Given the description of an element on the screen output the (x, y) to click on. 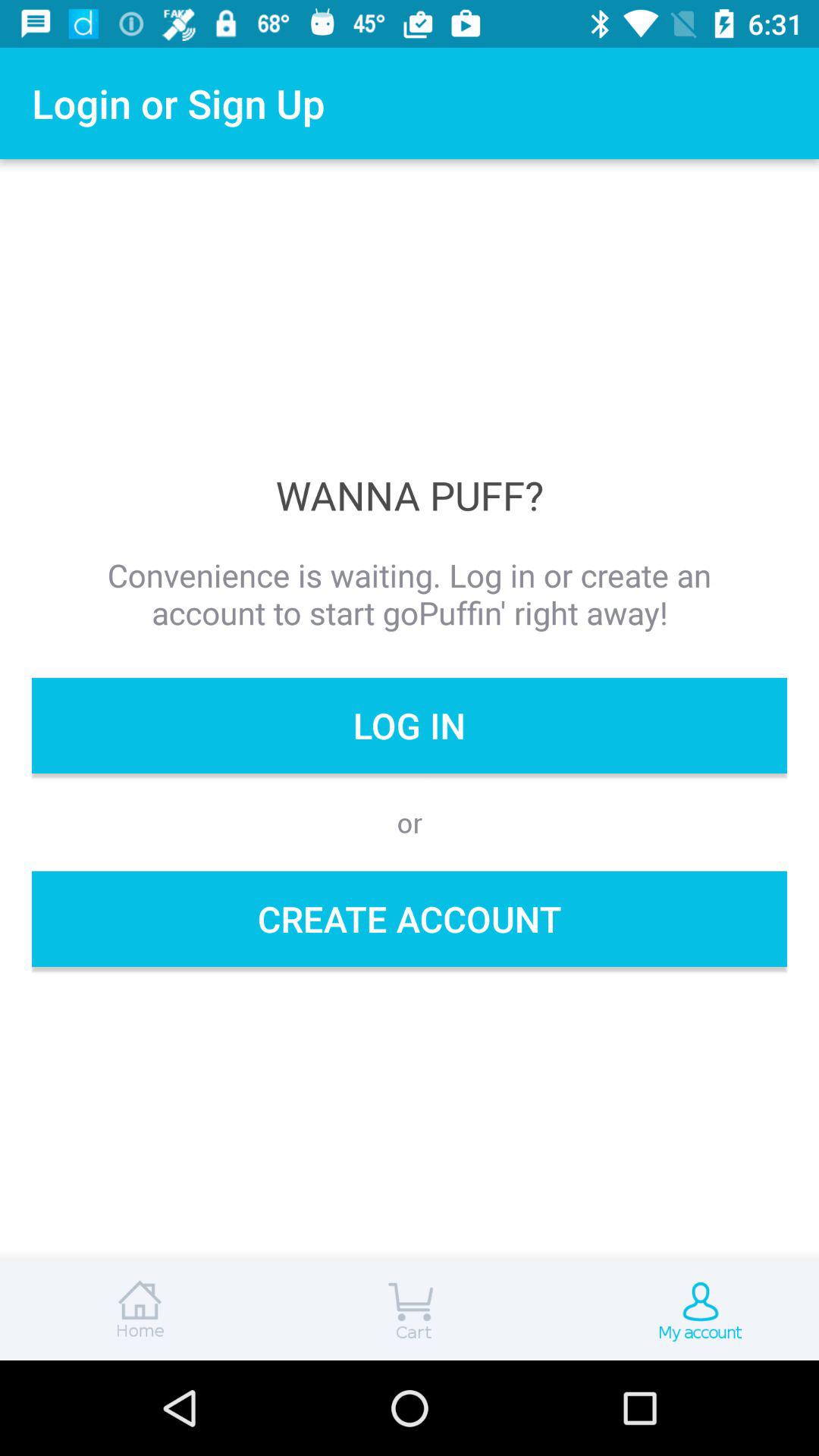
go to shopping cart (409, 1310)
